Given the description of an element on the screen output the (x, y) to click on. 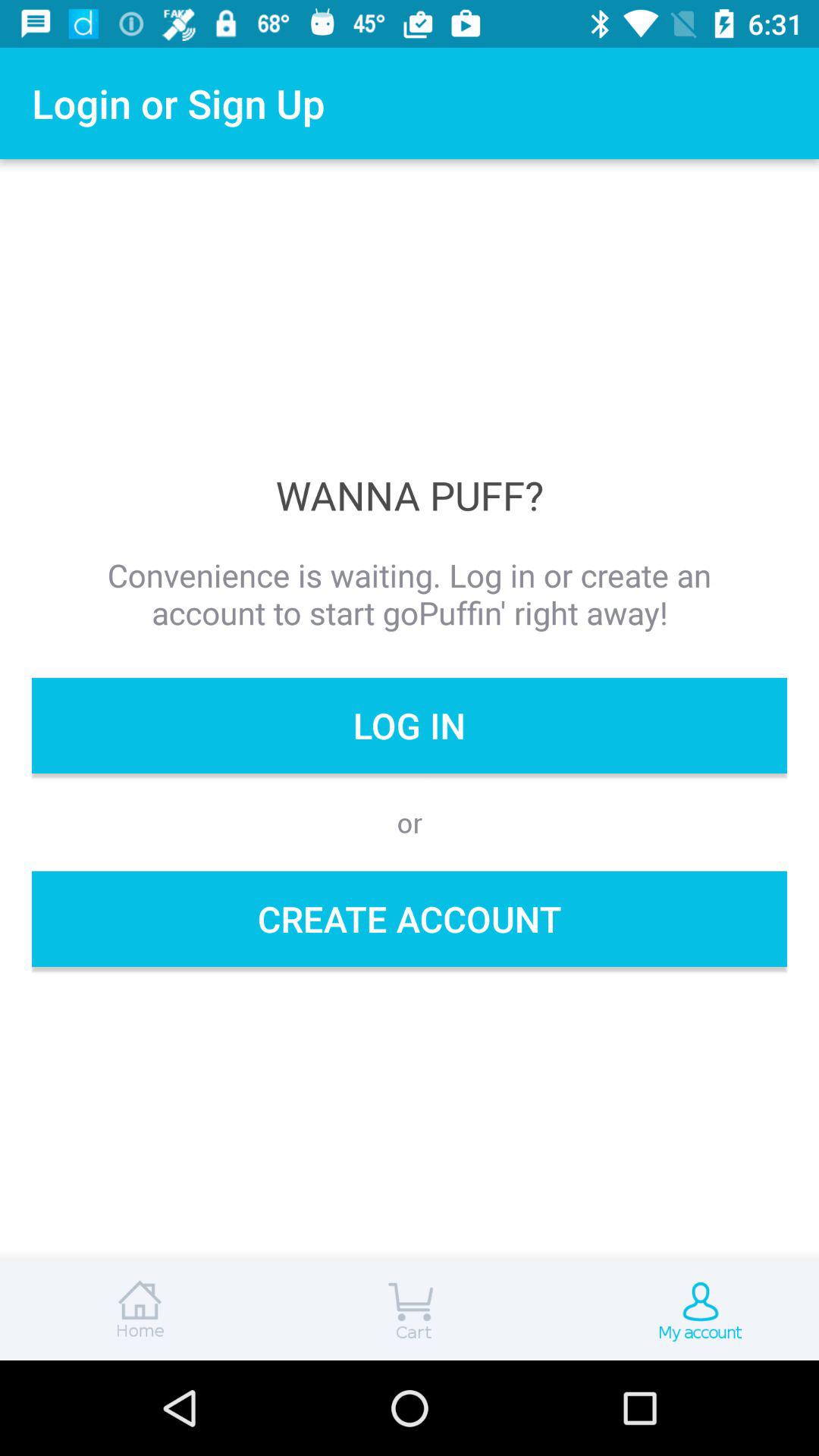
go to shopping cart (409, 1310)
